Given the description of an element on the screen output the (x, y) to click on. 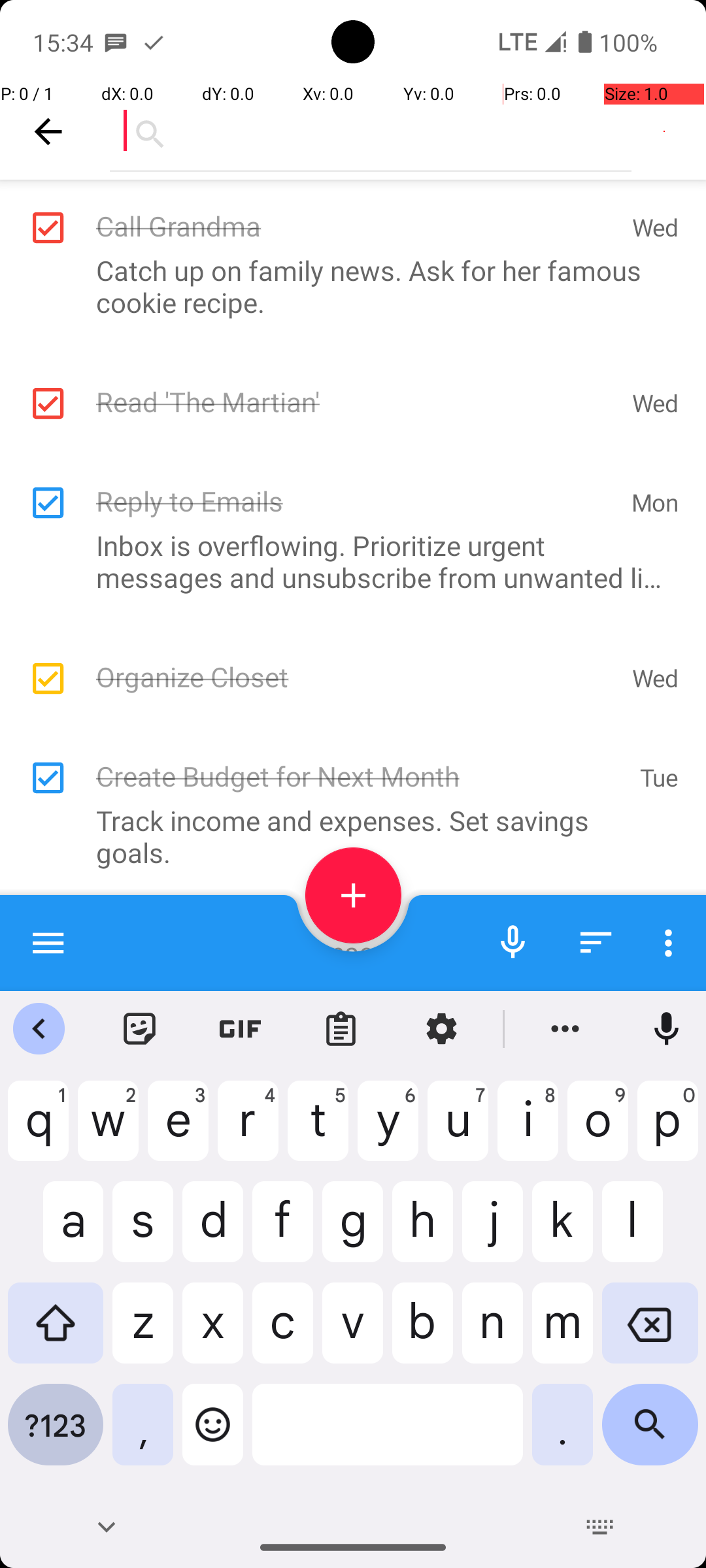
    Element type: android.widget.AutoCompleteTextView (370, 130)
